Given the description of an element on the screen output the (x, y) to click on. 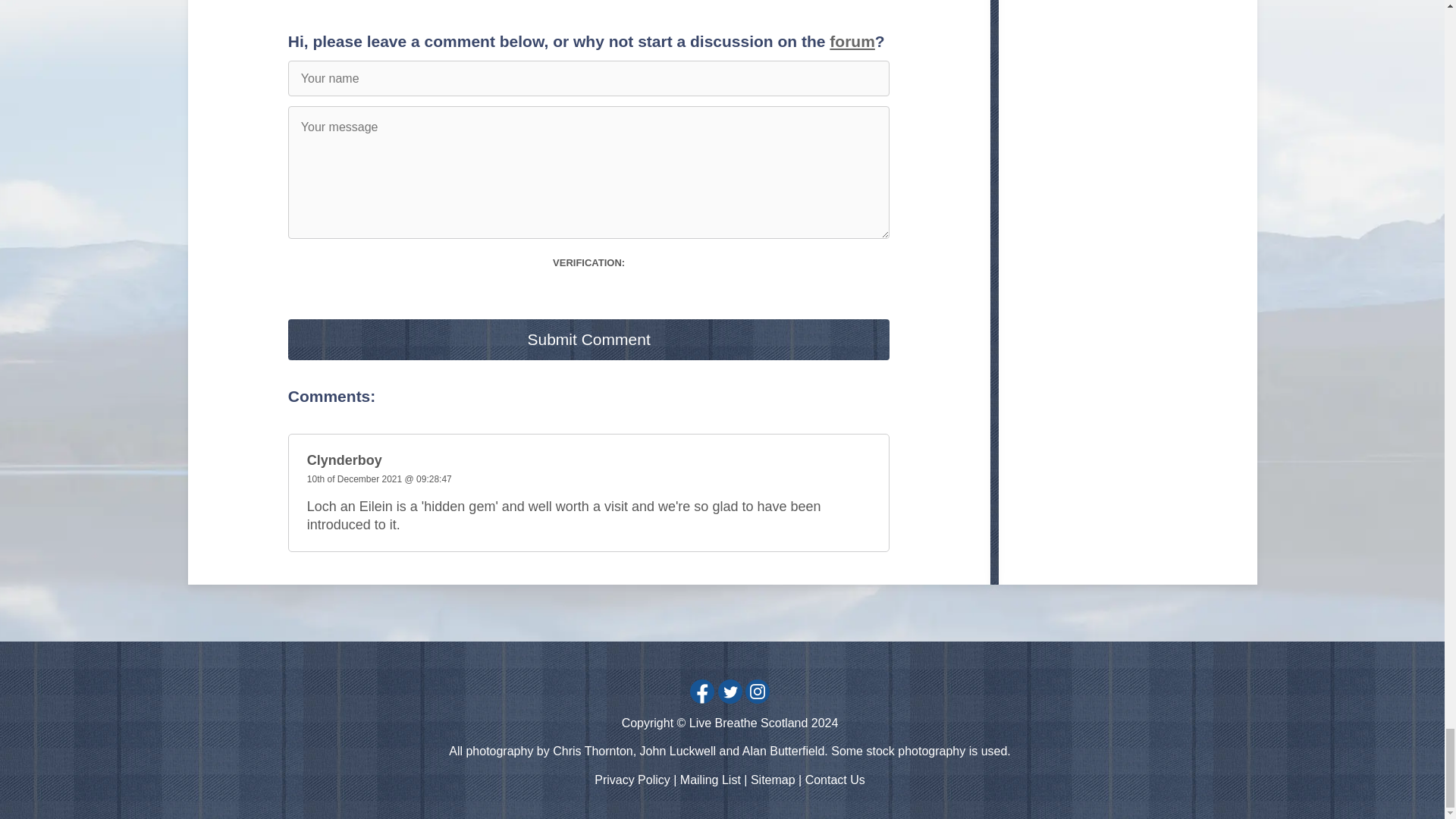
Submit Comment (588, 339)
